Given the description of an element on the screen output the (x, y) to click on. 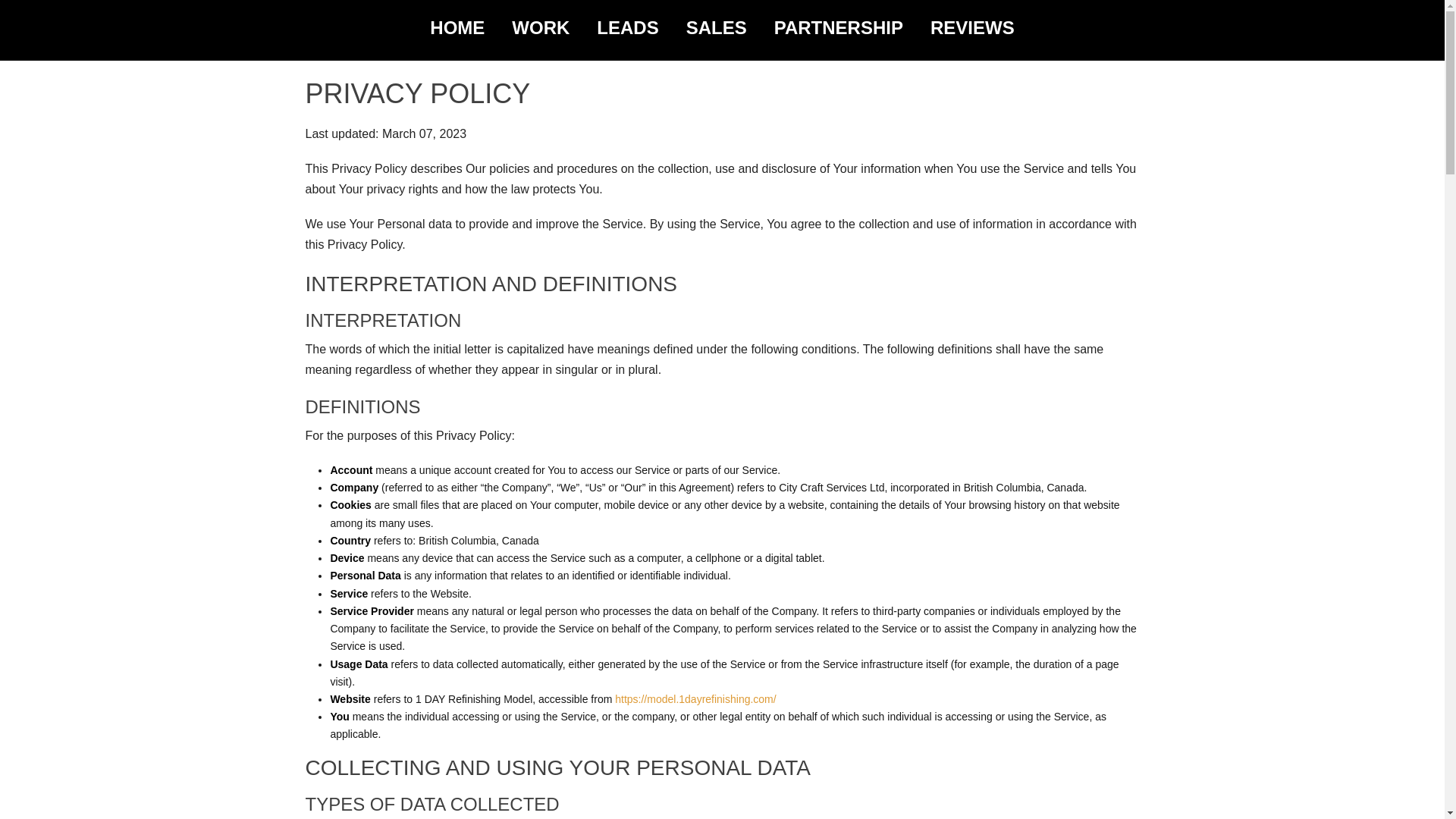
WORK Element type: text (540, 27)
https://model.1dayrefinishing.com/ Element type: text (695, 699)
LEADS Element type: text (627, 27)
PARTNERSHIP Element type: text (838, 27)
HOME Element type: text (456, 27)
SALES Element type: text (716, 27)
REVIEWS Element type: text (972, 27)
